Given the description of an element on the screen output the (x, y) to click on. 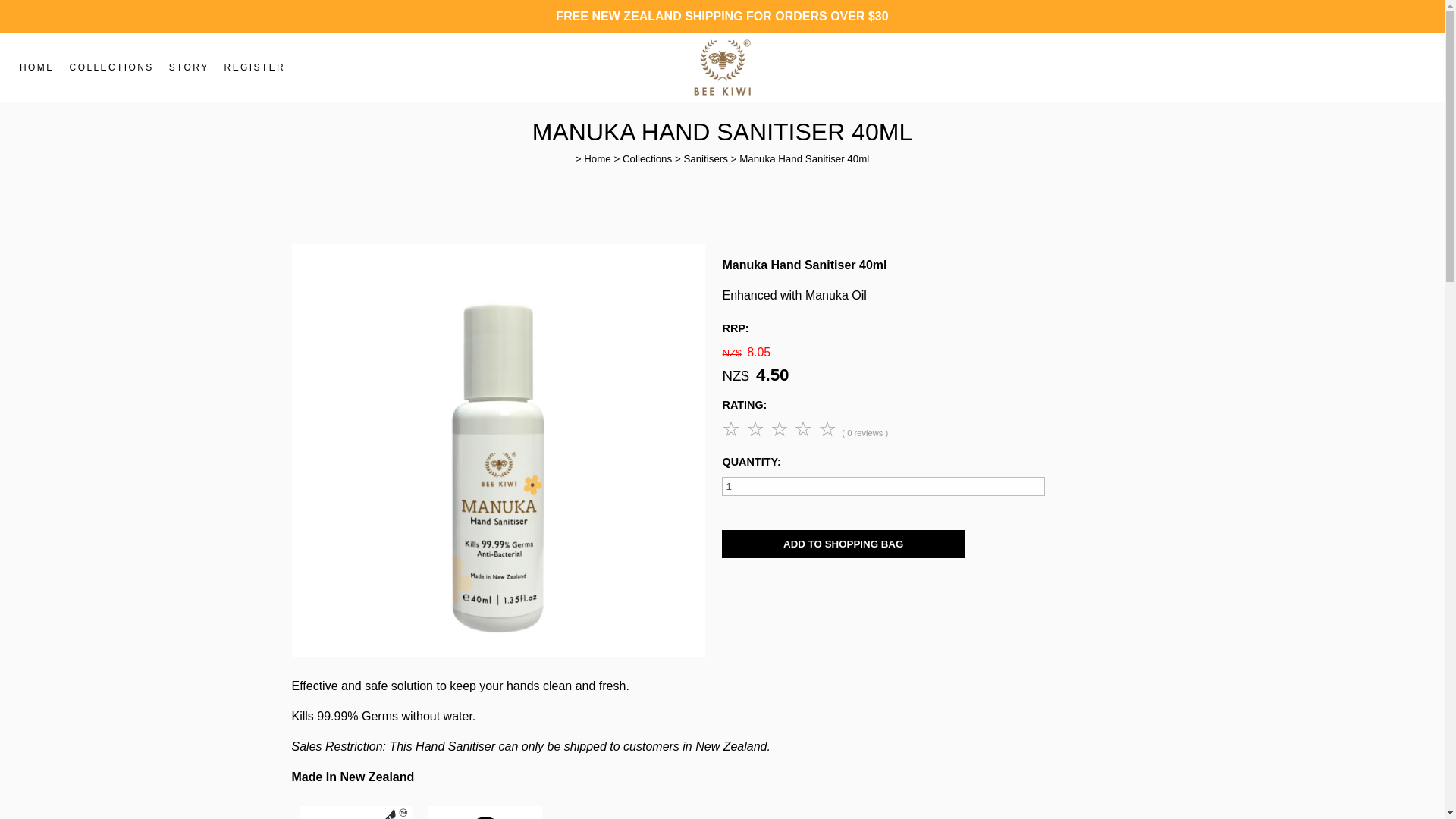
1 (883, 486)
Sanitisers (705, 158)
COLLECTIONS (111, 67)
Submit Product Review (781, 428)
STORY (188, 67)
Manuka Hand Sanitiser 40ml (804, 158)
HOME (36, 67)
Collections (647, 158)
REGISTER (255, 67)
Home (597, 158)
Manuka Hand Sanitiser 40ml (497, 653)
ADD TO SHOPPING BAG (842, 543)
